Given the description of an element on the screen output the (x, y) to click on. 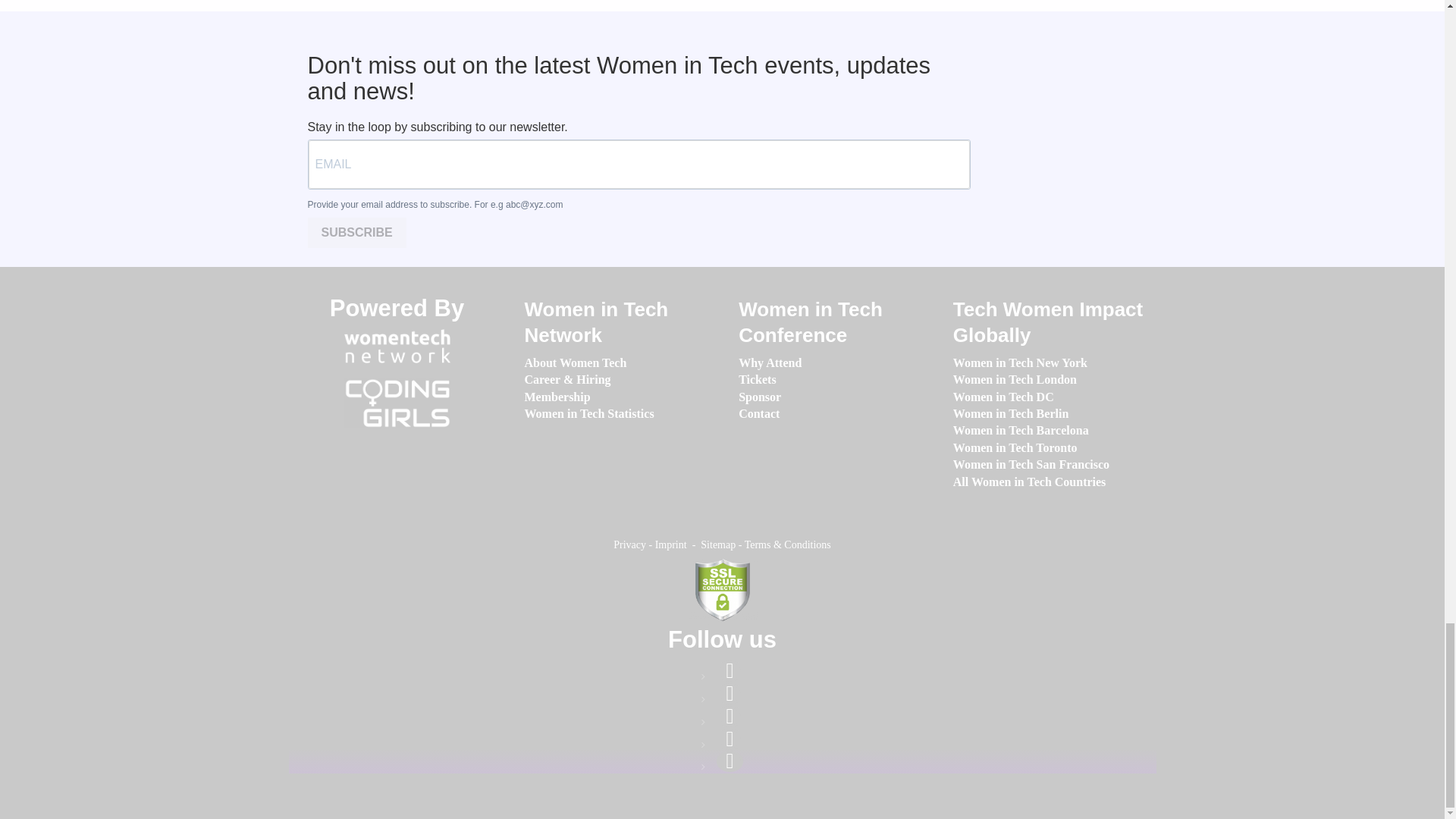
linkedin (729, 693)
instagram (729, 716)
Women in Technology (396, 346)
twitter (729, 739)
Coding Girls (396, 403)
youtube (729, 761)
facebook (729, 670)
